Given the description of an element on the screen output the (x, y) to click on. 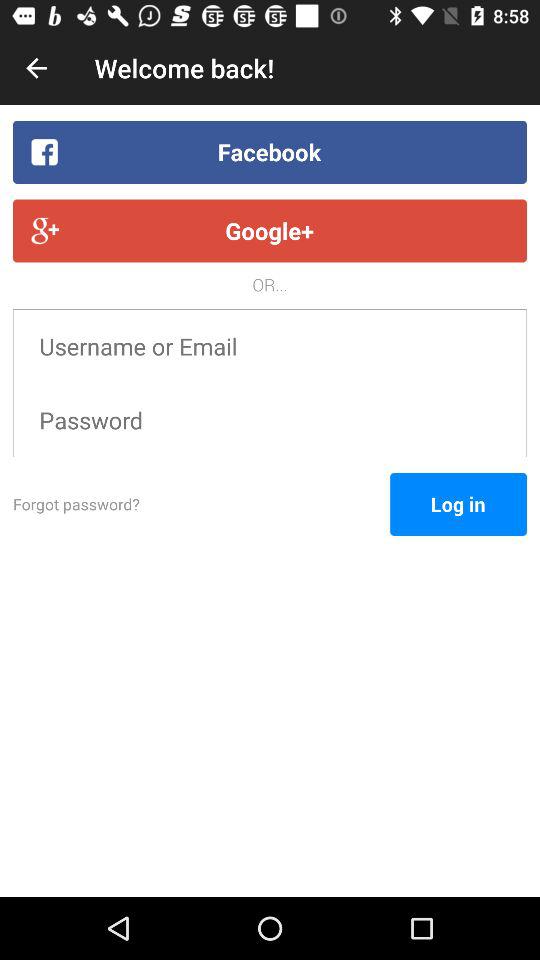
turn on forgot password? icon (201, 503)
